Given the description of an element on the screen output the (x, y) to click on. 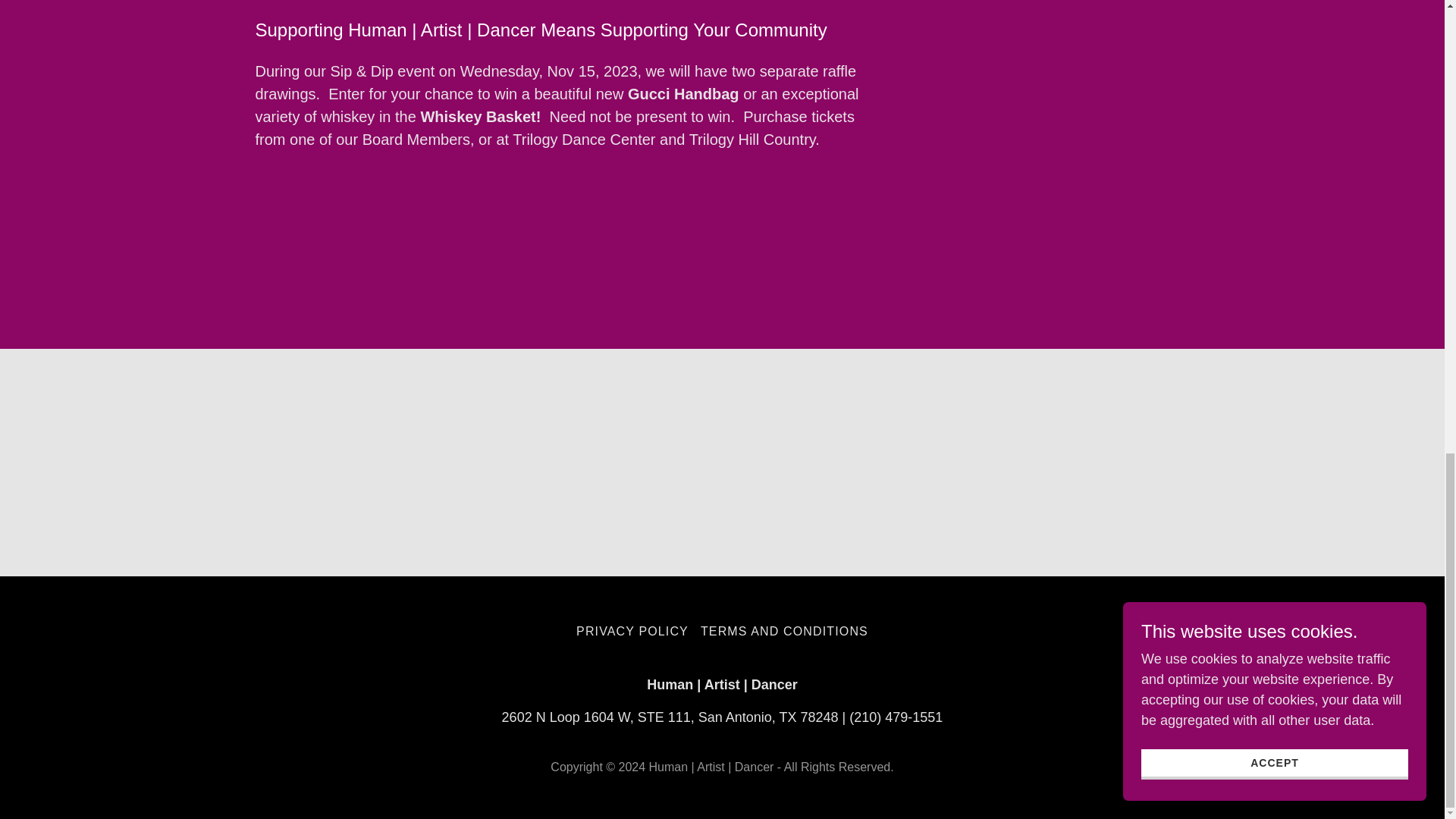
TERMS AND CONDITIONS (784, 631)
PRIVACY POLICY (632, 631)
